Given the description of an element on the screen output the (x, y) to click on. 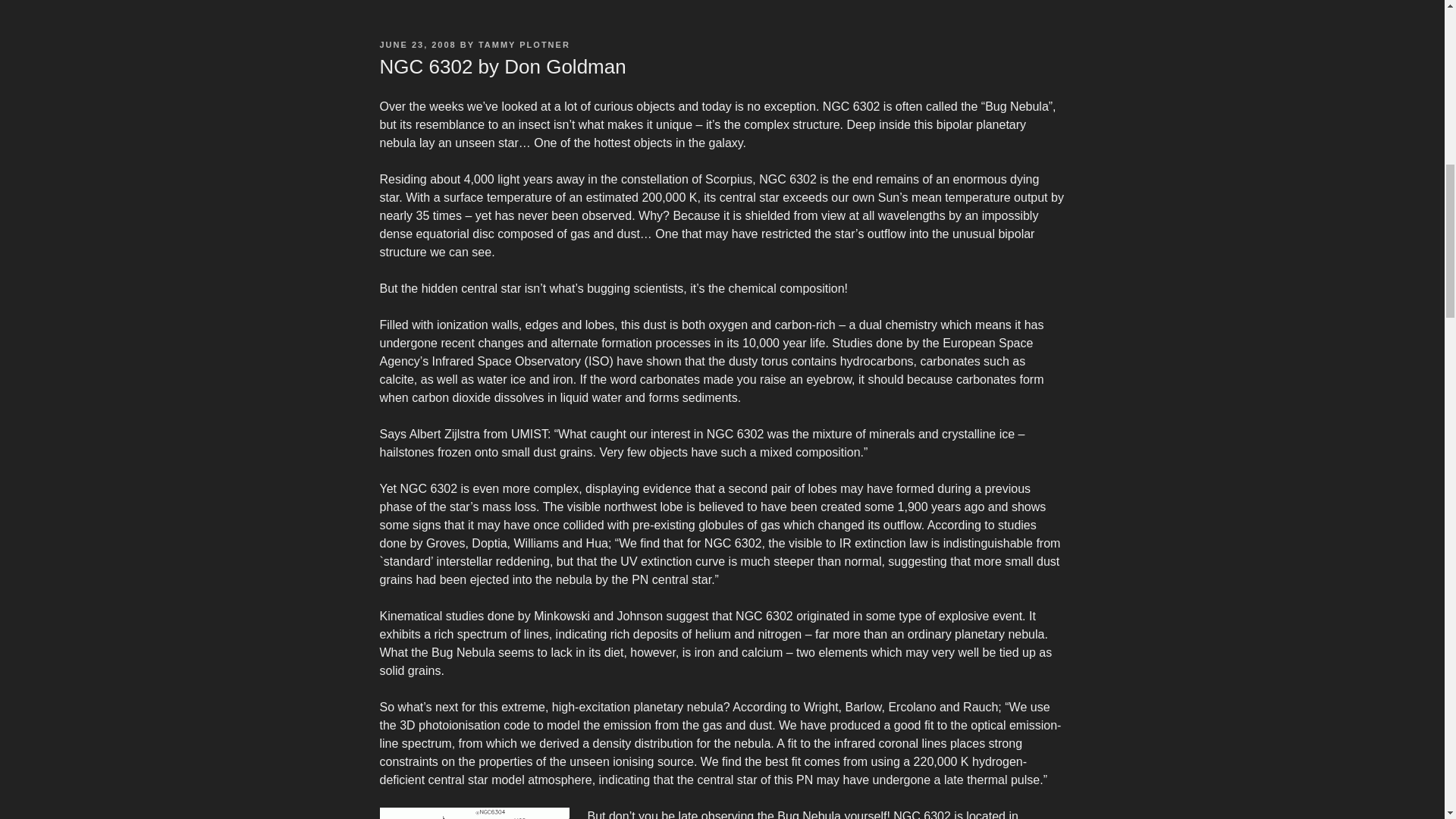
JUNE 23, 2008 (416, 44)
TAMMY PLOTNER (524, 44)
